Given the description of an element on the screen output the (x, y) to click on. 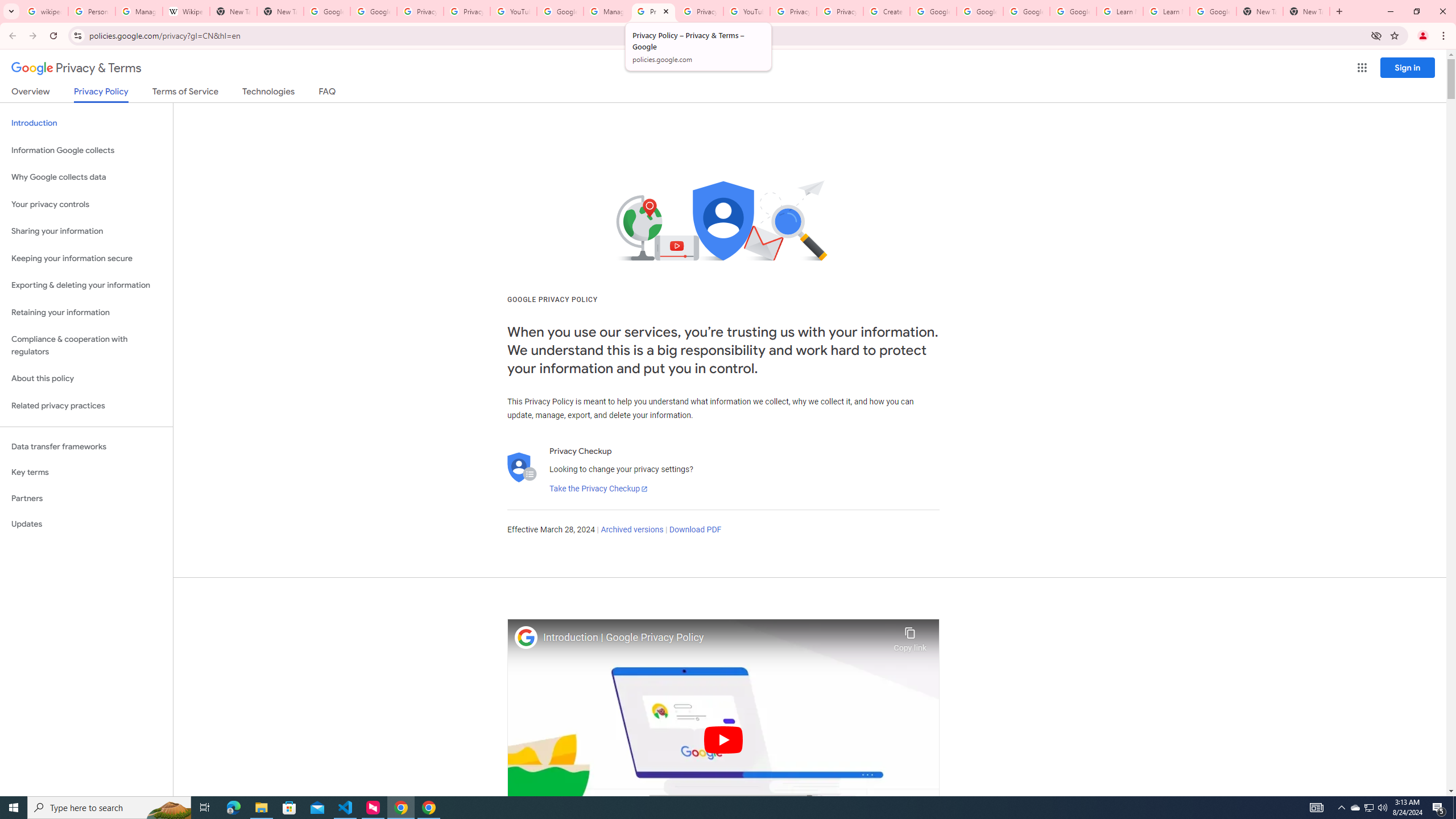
New Tab (1259, 11)
Create your Google Account (886, 11)
Google Account Help (933, 11)
Google Account Help (559, 11)
